Given the description of an element on the screen output the (x, y) to click on. 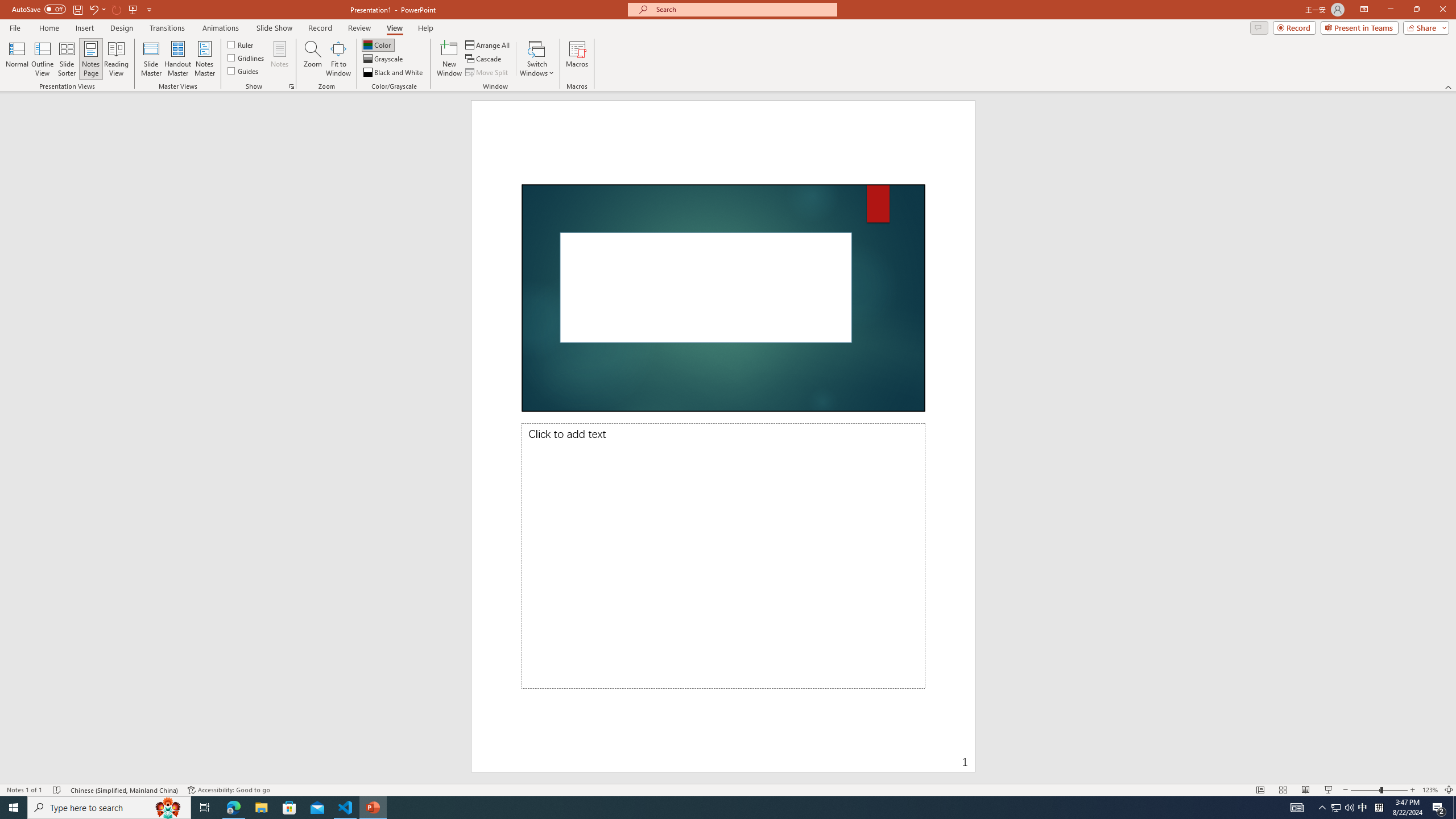
Notes Master (204, 58)
Slide (723, 297)
Save (77, 9)
Grid Settings... (291, 85)
Animations (220, 28)
Grayscale (383, 58)
Notes Page (90, 58)
Microsoft search (742, 9)
Close (1442, 9)
Reading View (1305, 790)
New Window (449, 58)
Black and White (393, 72)
Cascade (484, 58)
Record (1294, 27)
